Given the description of an element on the screen output the (x, y) to click on. 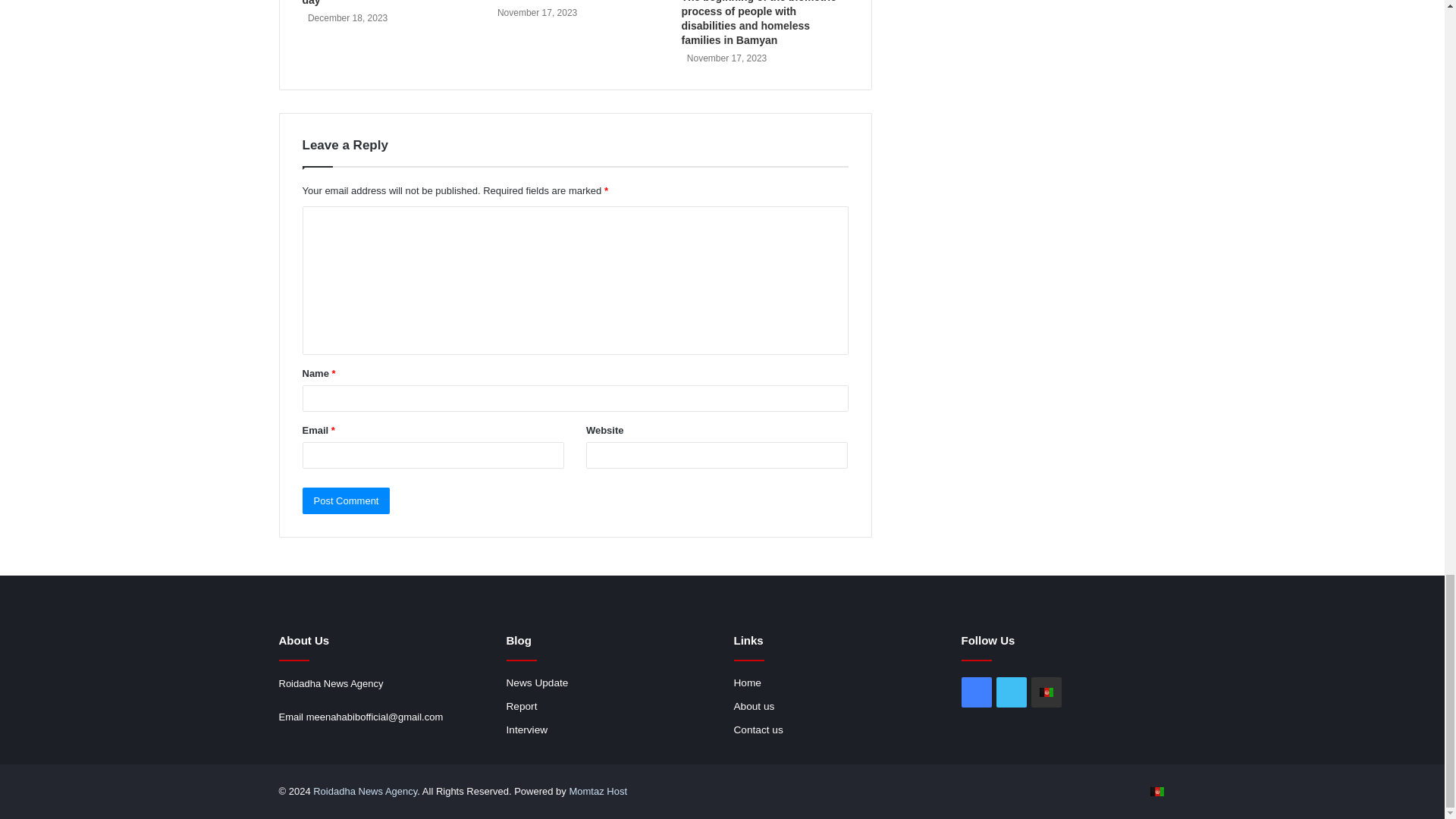
Post Comment (345, 500)
